Given the description of an element on the screen output the (x, y) to click on. 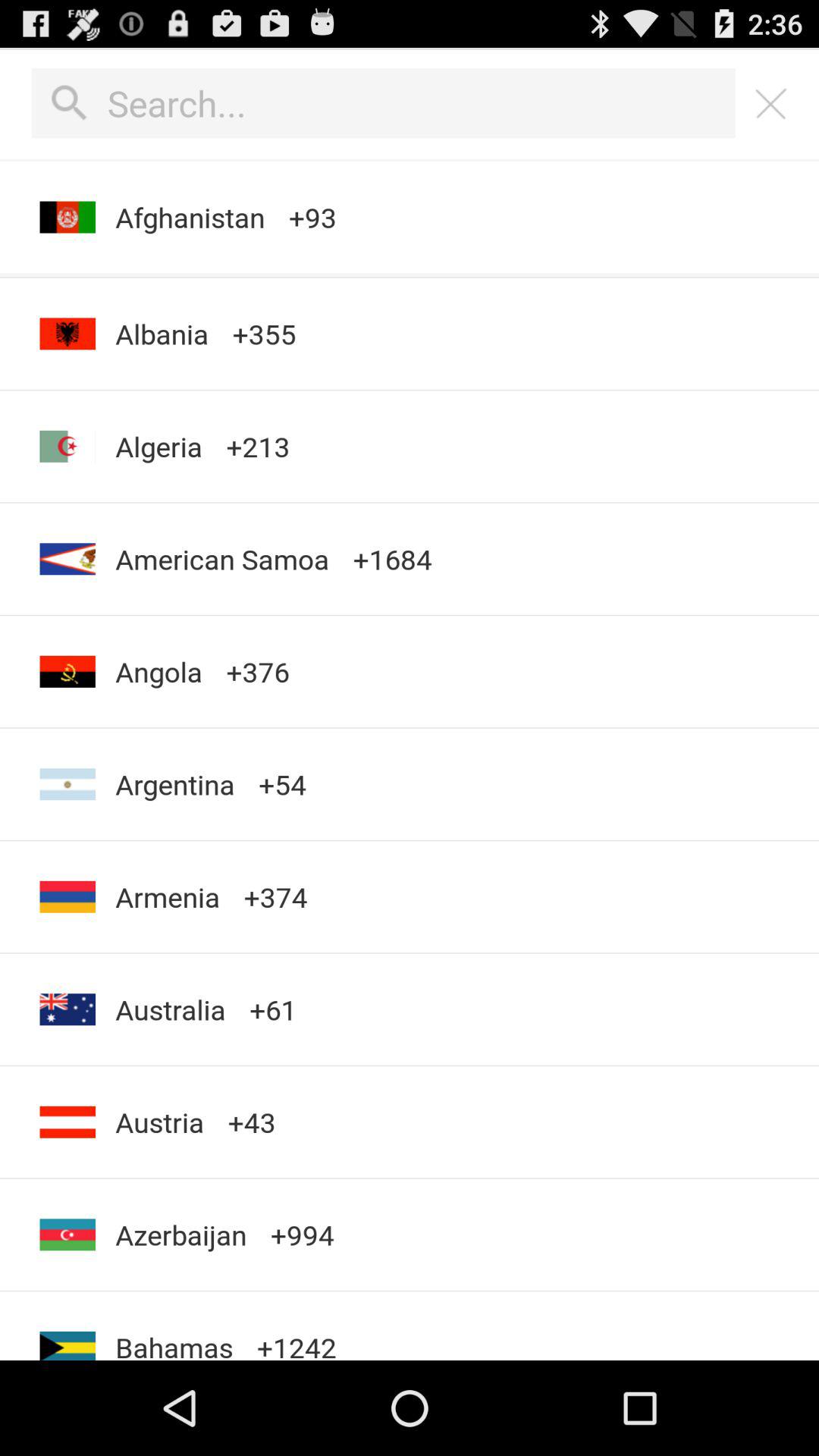
select the item above the armenia item (174, 784)
